Given the description of an element on the screen output the (x, y) to click on. 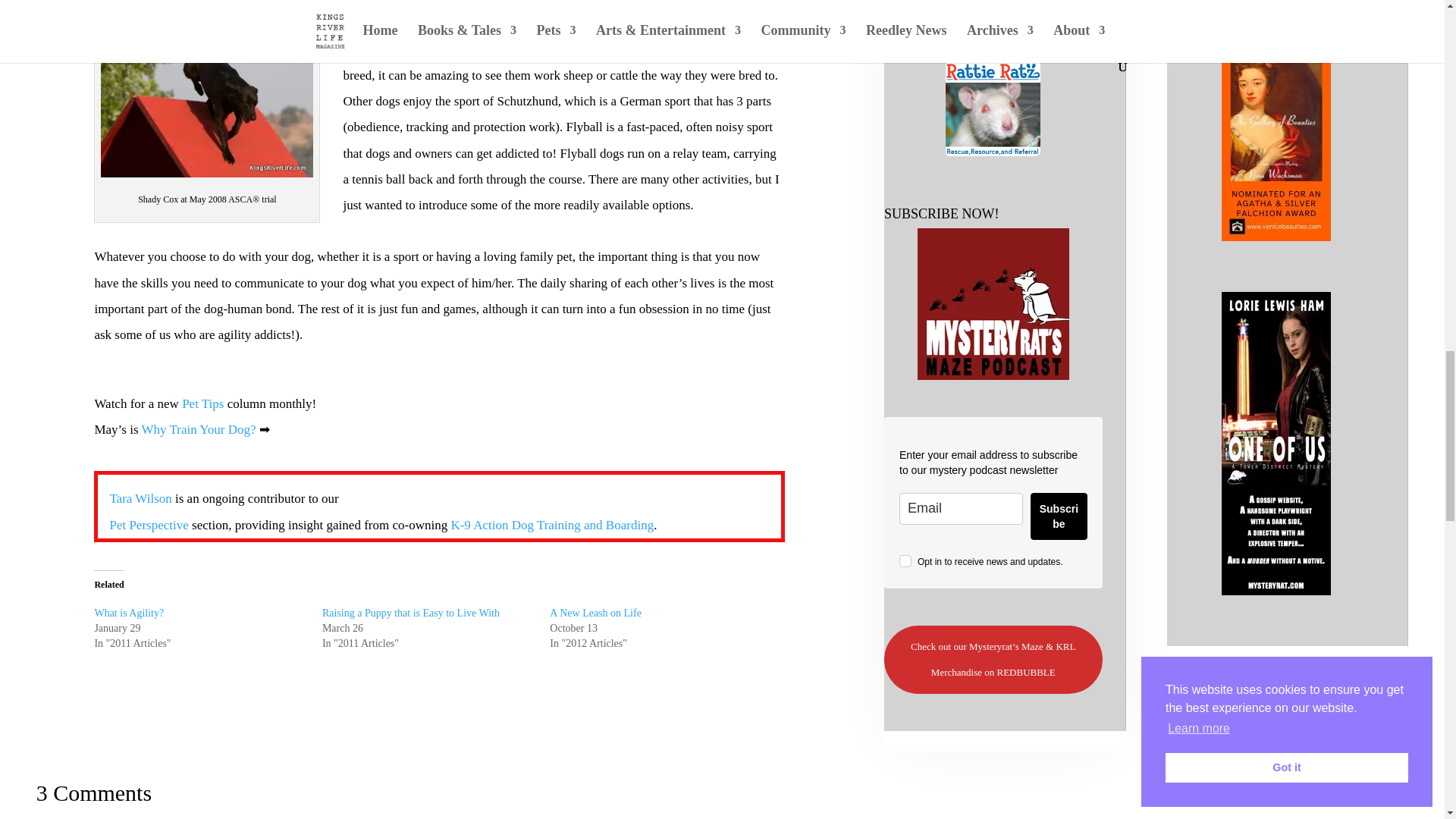
Subscribe now! (992, 304)
A New Leash on Life (596, 613)
Photo submitted by Tara Wilson (206, 88)
What is Agility? (128, 613)
Raising a Puppy that is Easy to Live With (410, 613)
